Given the description of an element on the screen output the (x, y) to click on. 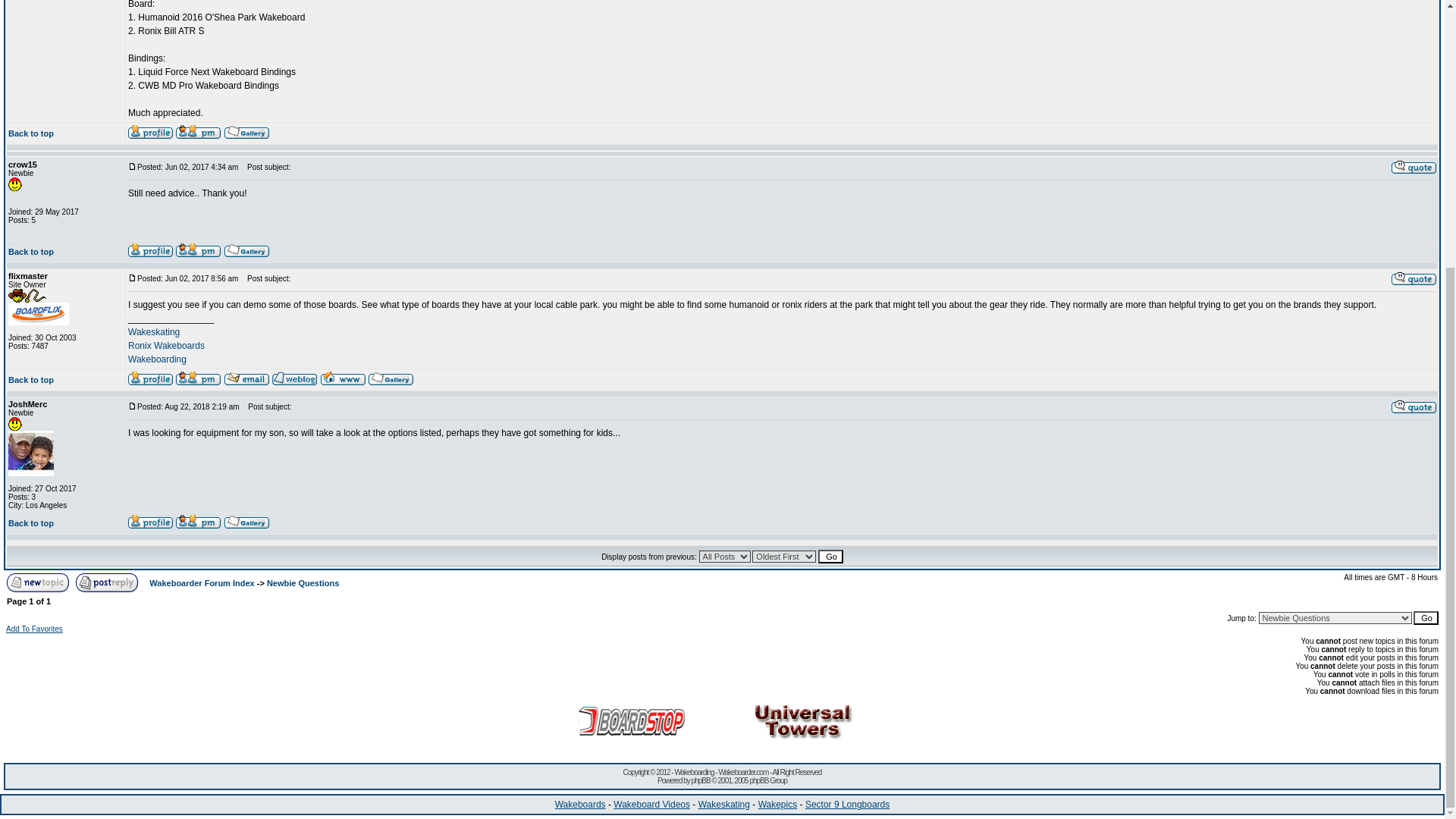
Back to top (30, 251)
Go (830, 556)
crow15 (22, 163)
Go (1425, 617)
Back to top (30, 133)
